Given the description of an element on the screen output the (x, y) to click on. 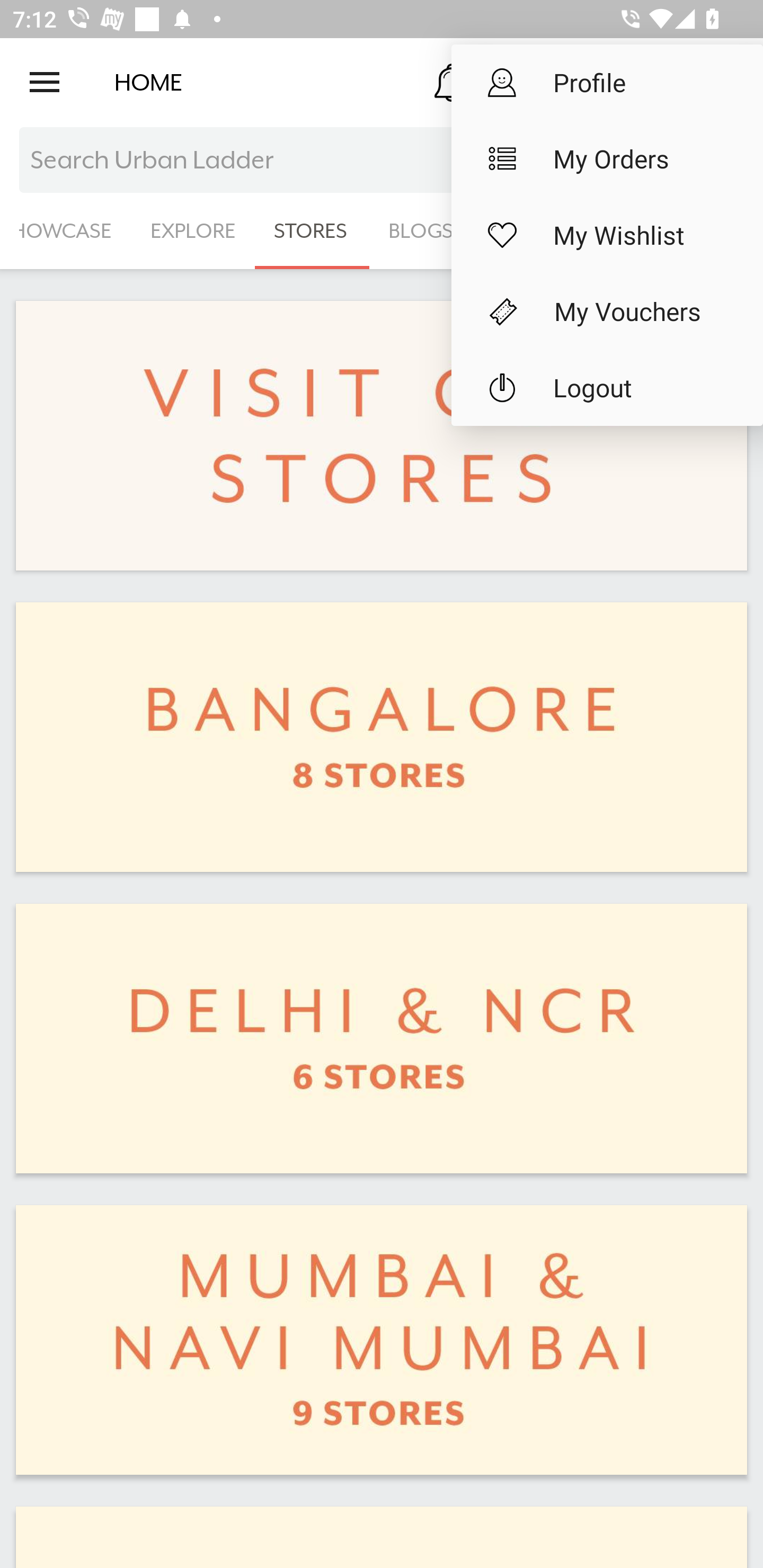
Profile (607, 81)
My Orders (607, 158)
My Wishlist (607, 234)
My Vouchers (607, 310)
Logout (607, 387)
